Given the description of an element on the screen output the (x, y) to click on. 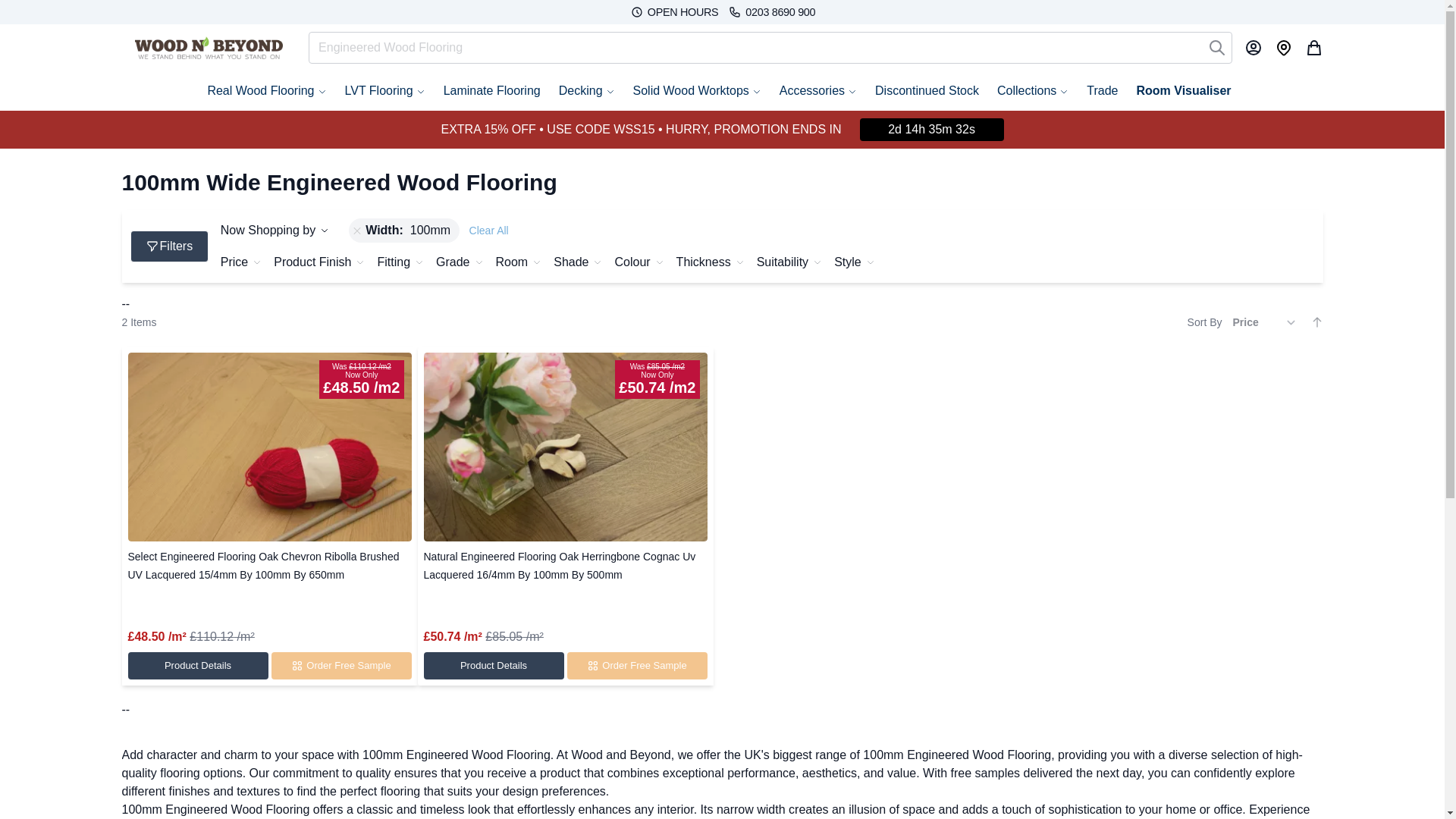
My Cart (1313, 47)
Order Sample (341, 665)
Order Sample (637, 665)
Set Descending Direction (1316, 322)
OPEN HOURS (673, 12)
LVT Flooring (384, 90)
Remove Width 100mm (356, 230)
Accessories (818, 90)
Showroom (1283, 47)
0203 8690 900 (770, 12)
